Given the description of an element on the screen output the (x, y) to click on. 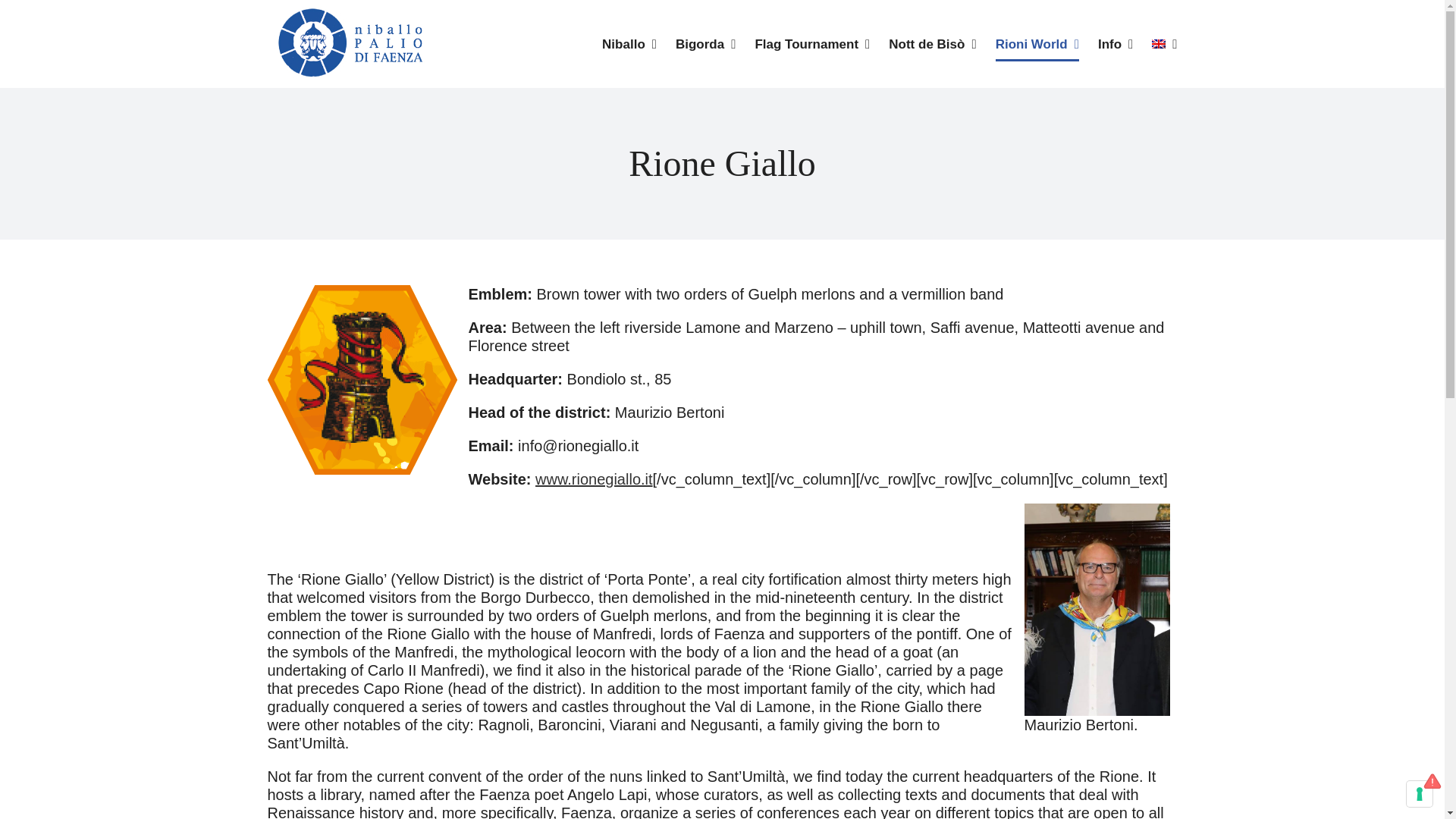
Rioni World (1036, 43)
Flag Tournament (811, 43)
